Given the description of an element on the screen output the (x, y) to click on. 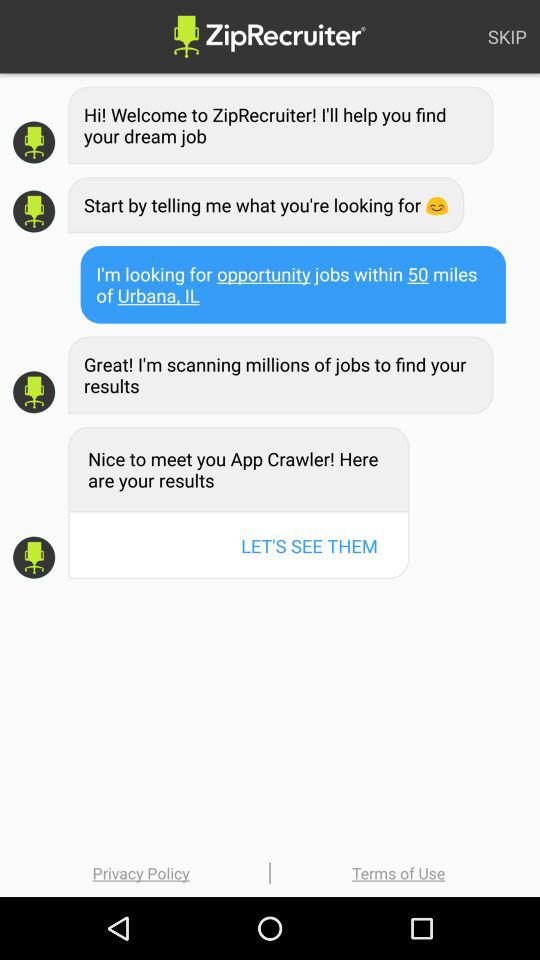
tap terms of use icon (398, 872)
